Given the description of an element on the screen output the (x, y) to click on. 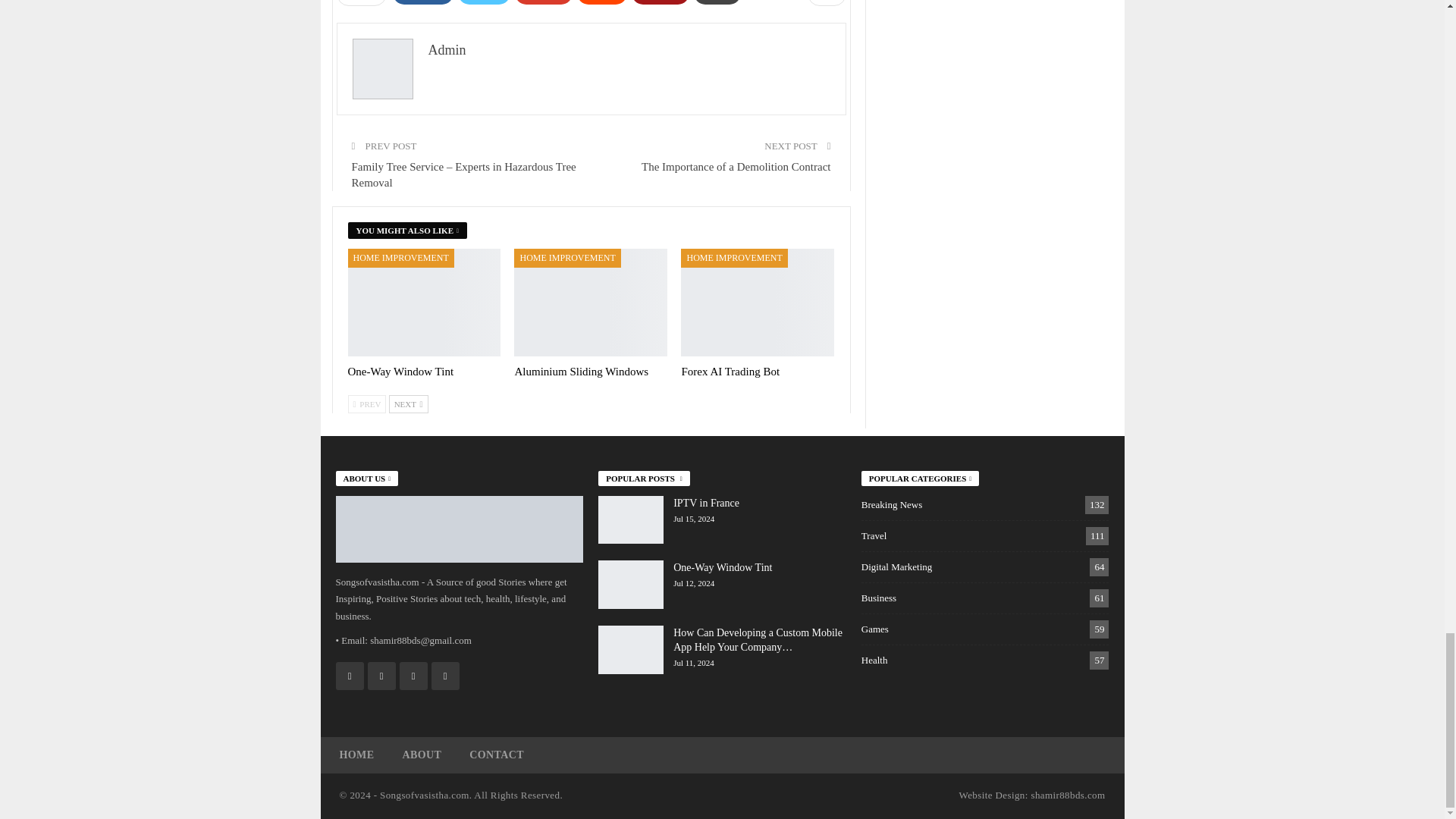
Previous (366, 403)
Aluminium Sliding Windows (589, 301)
Aluminium Sliding Windows (580, 371)
Forex AI Trading Bot (729, 371)
Next (408, 403)
One-Way Window Tint (399, 371)
Forex AI Trading Bot (757, 301)
One-Way Window Tint (423, 301)
